Given the description of an element on the screen output the (x, y) to click on. 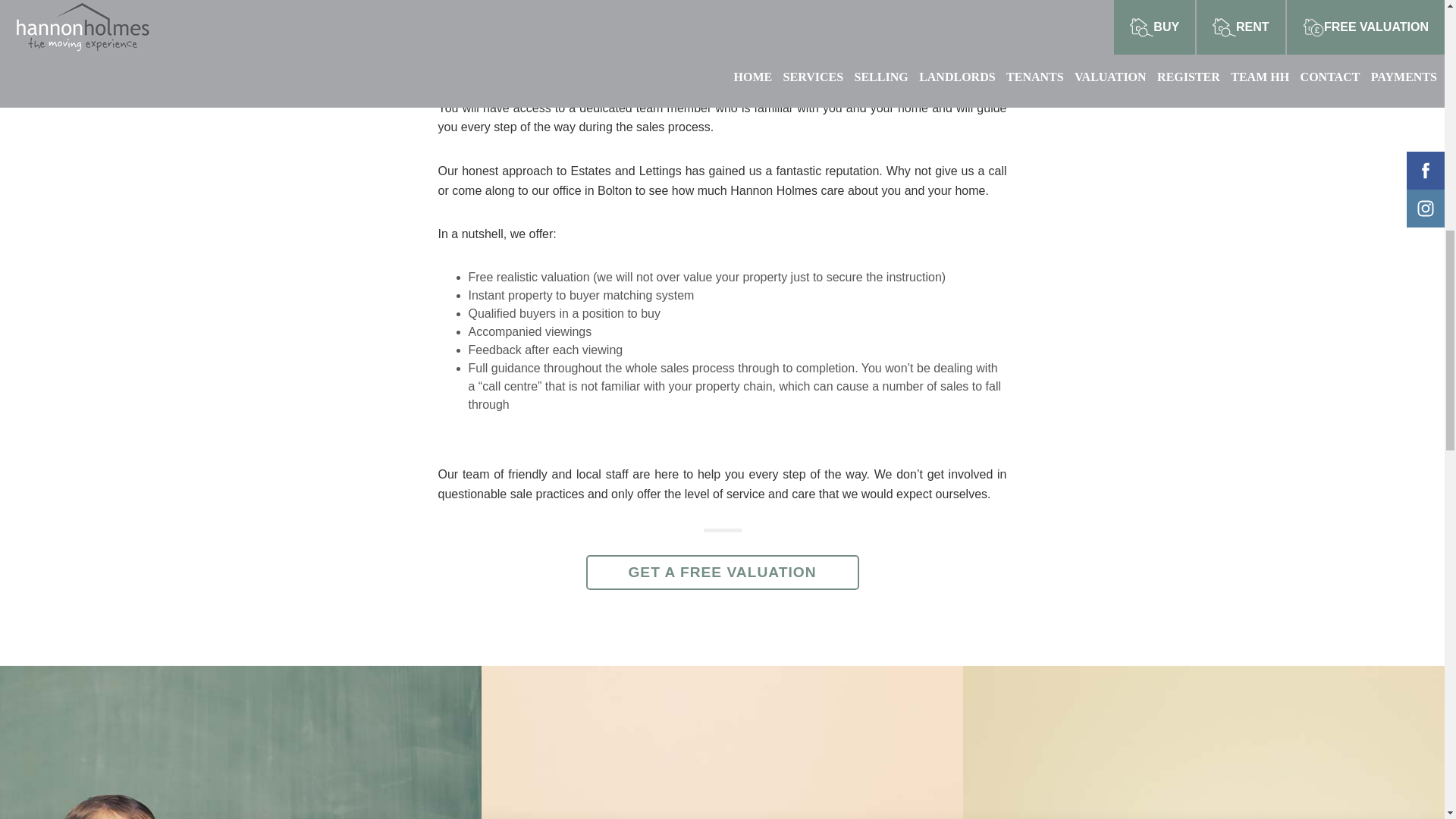
GET A FREE VALUATION (722, 572)
